Given the description of an element on the screen output the (x, y) to click on. 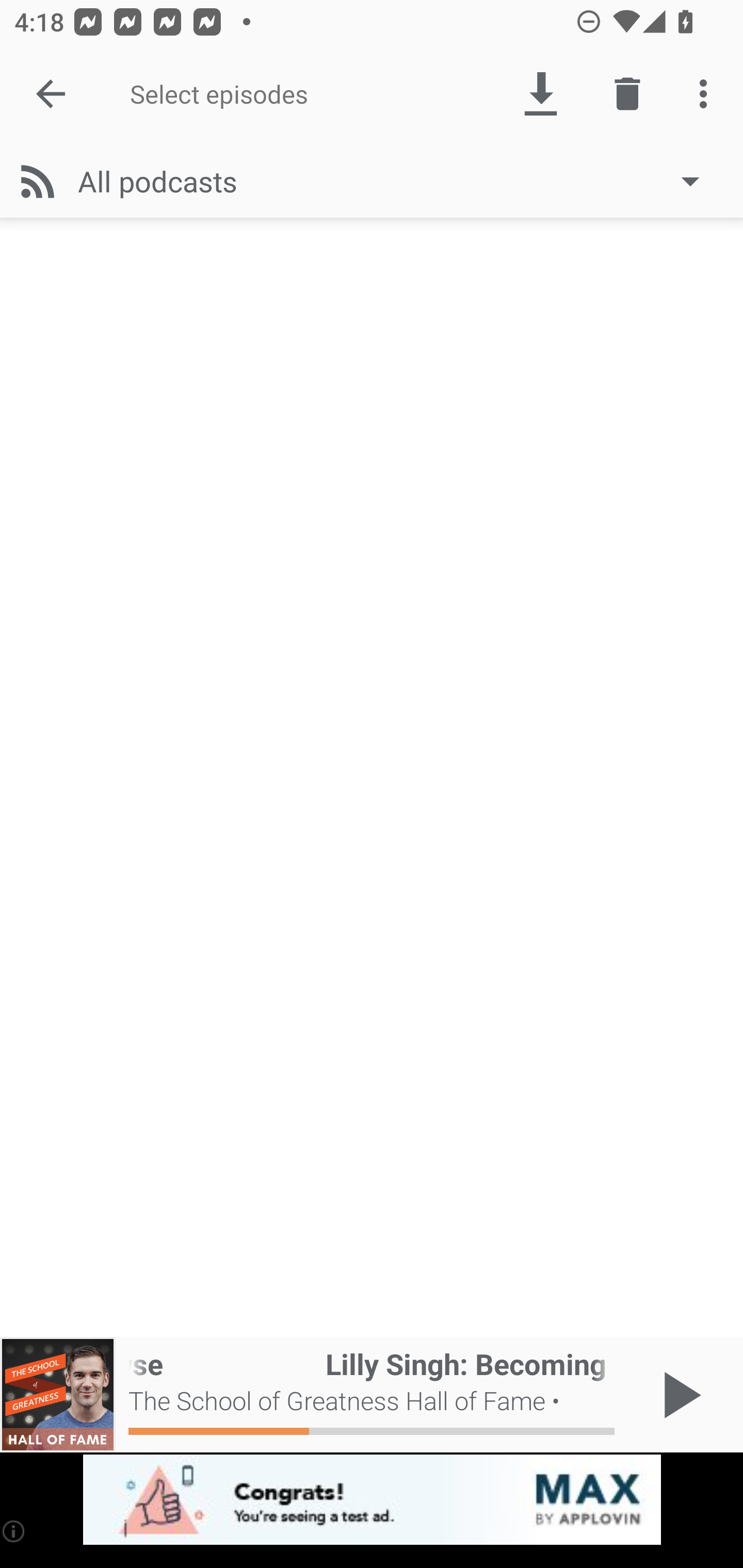
Done (50, 93)
Download (540, 93)
Delete episode (626, 93)
More options (706, 93)
All podcasts (398, 180)
Play / Pause (677, 1394)
app-monetization (371, 1500)
(i) (14, 1531)
